Given the description of an element on the screen output the (x, y) to click on. 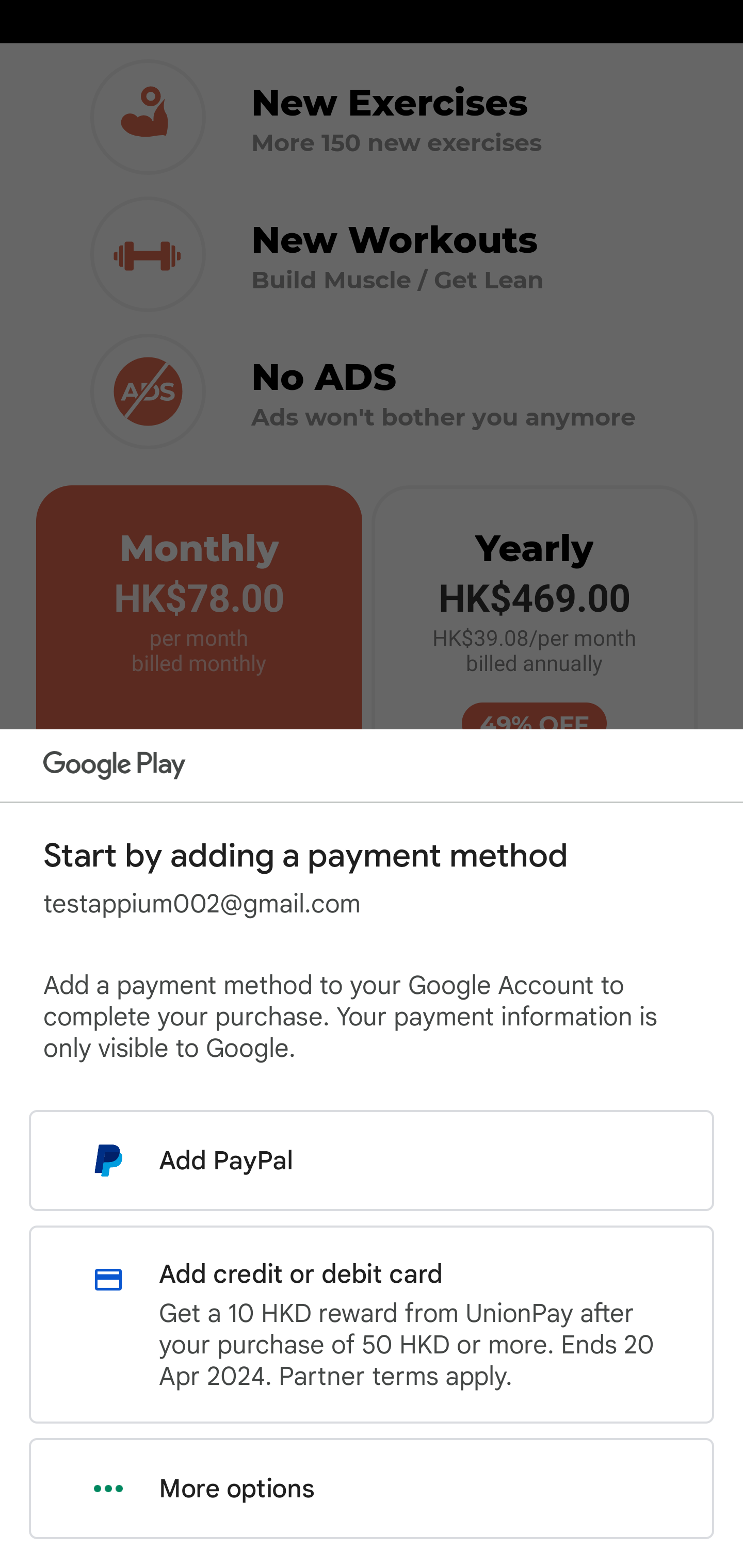
Add PayPal (371, 1160)
More options (371, 1488)
